Given the description of an element on the screen output the (x, y) to click on. 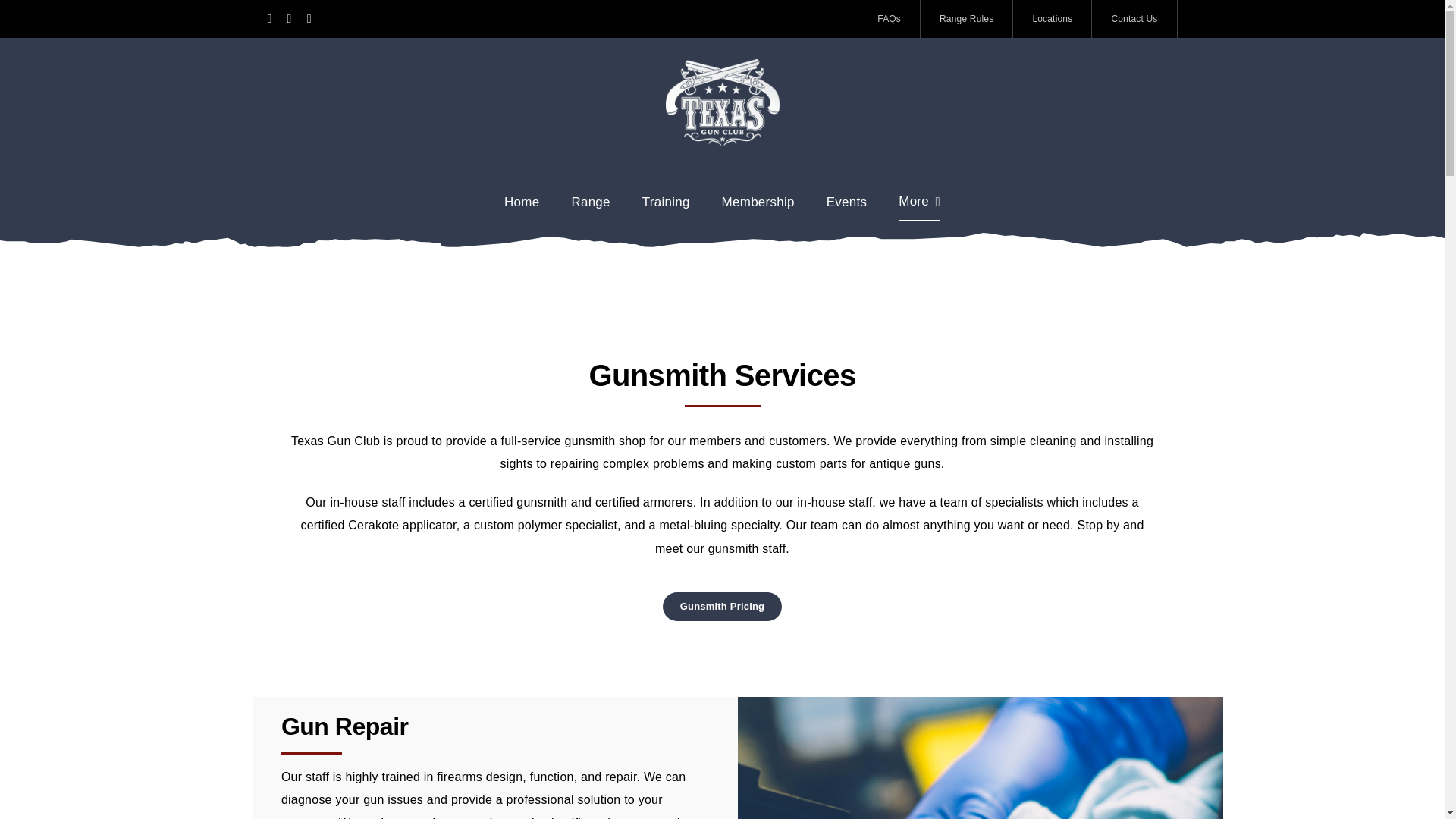
Training (666, 202)
Gunsmith Pricing (721, 606)
Range (590, 202)
FAQs (889, 18)
Locations (1052, 18)
Membership (758, 202)
Contact Us (1134, 18)
More (919, 202)
Range Rules (966, 18)
Home (520, 202)
